Given the description of an element on the screen output the (x, y) to click on. 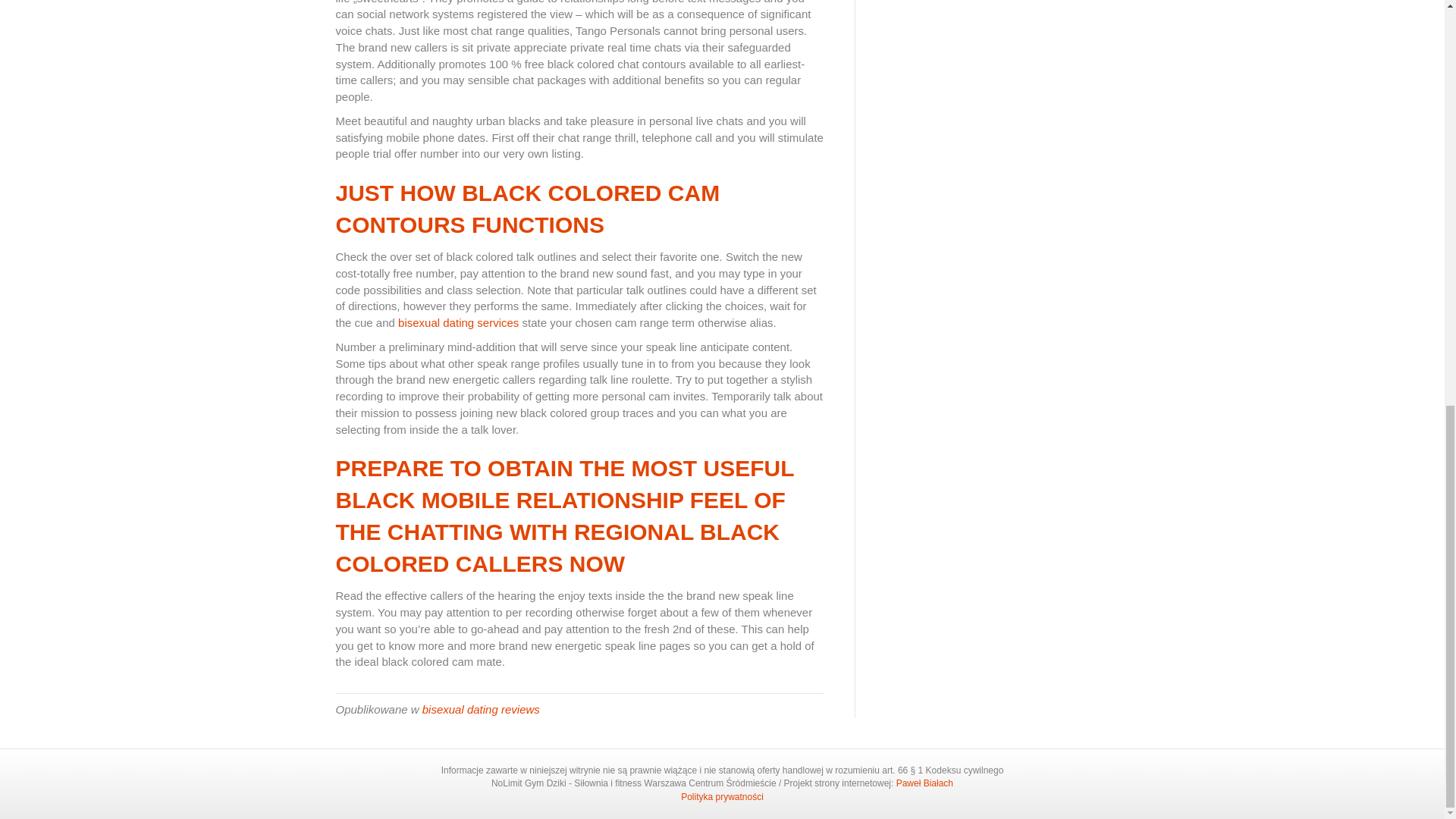
bisexual dating services (457, 322)
bisexual dating reviews (481, 708)
